Given the description of an element on the screen output the (x, y) to click on. 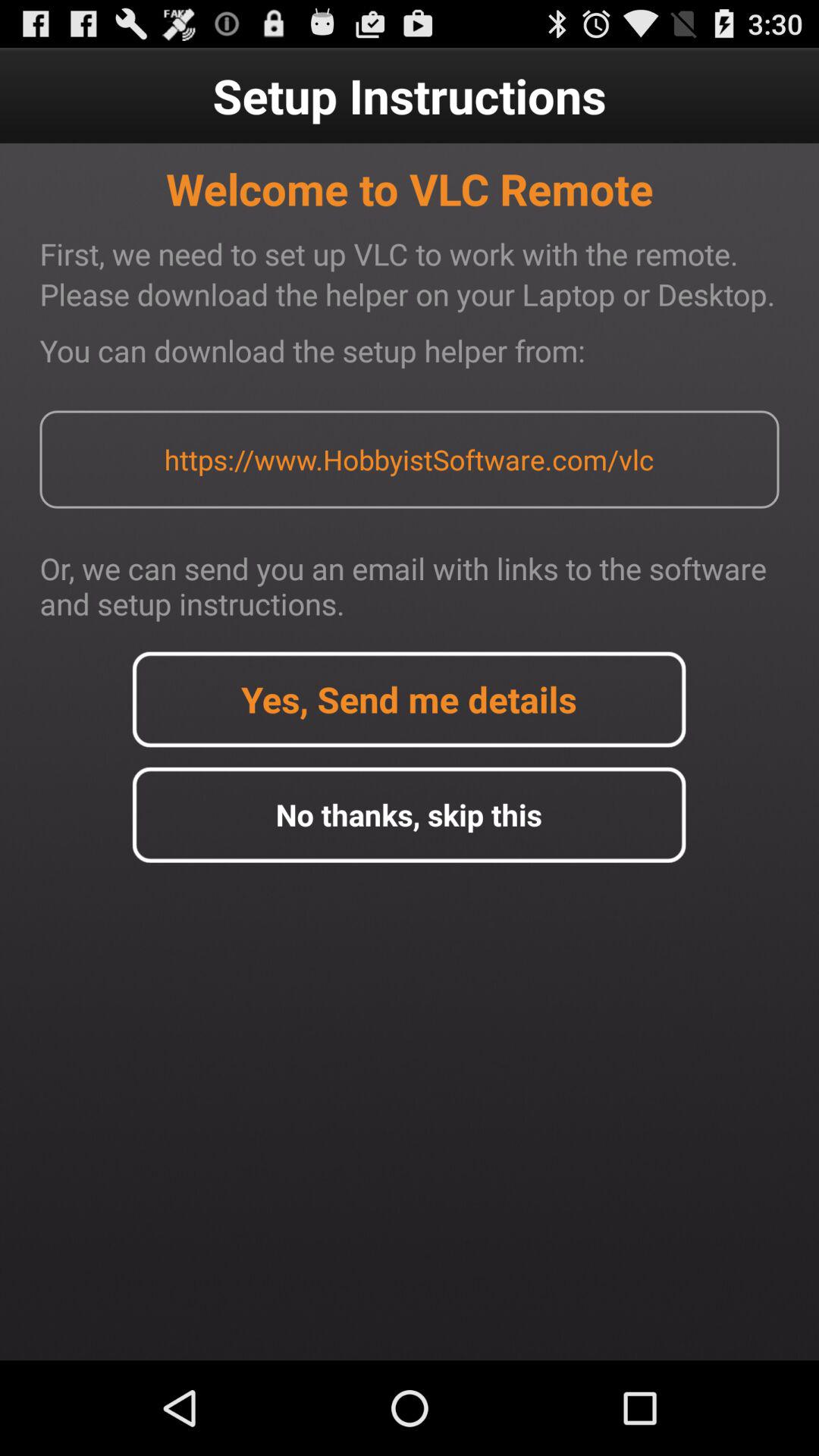
jump to https www hobbyistsoftware app (409, 459)
